Given the description of an element on the screen output the (x, y) to click on. 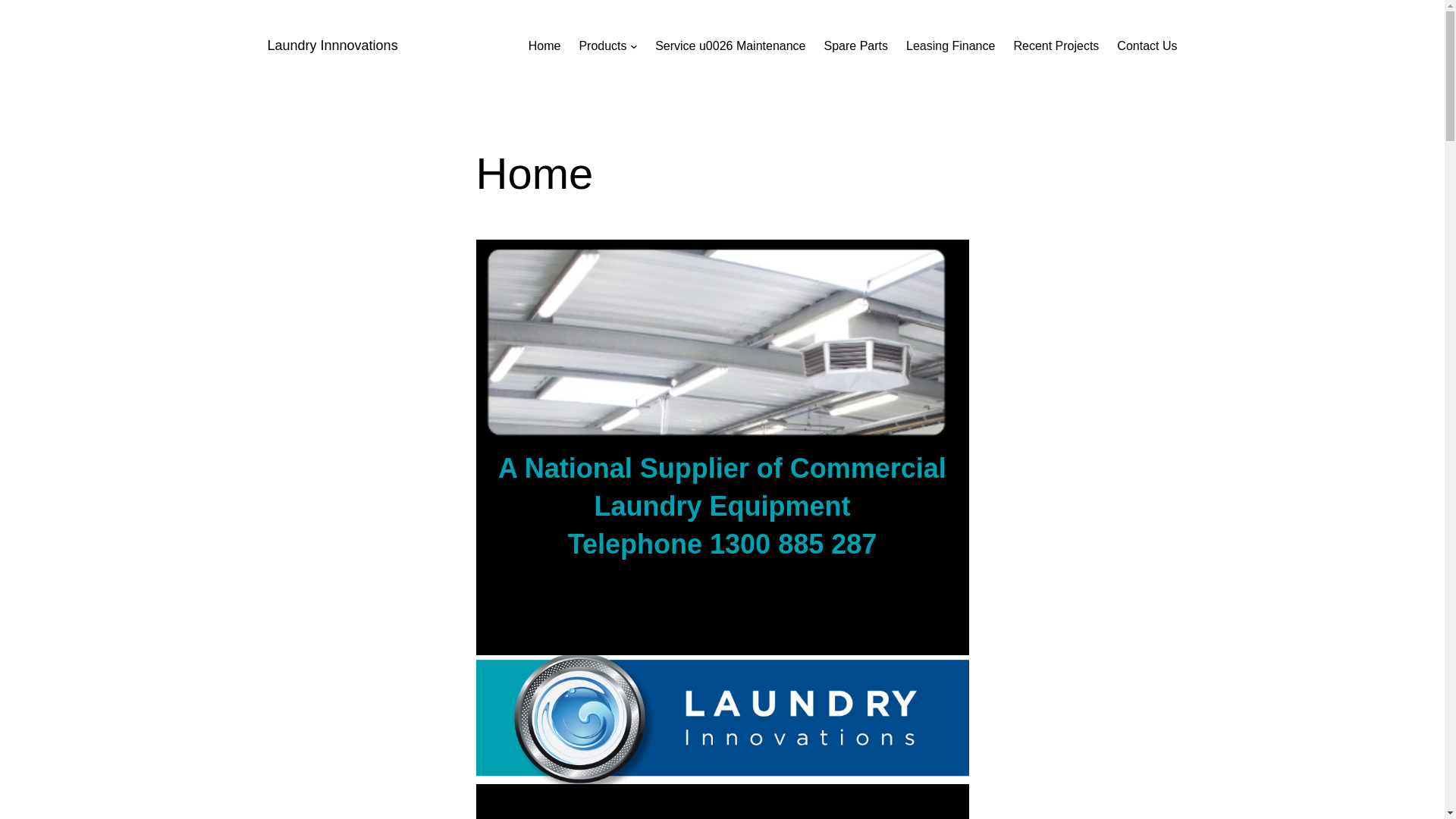
Home Element type: text (544, 46)
Products Element type: text (602, 46)
Laundry Innnovations Element type: text (331, 45)
Spare Parts Element type: text (856, 46)
Contact Us Element type: text (1146, 46)
Leasing Finance Element type: text (950, 46)
Recent Projects Element type: text (1055, 46)
Service u0026 Maintenance Element type: text (730, 46)
